Given the description of an element on the screen output the (x, y) to click on. 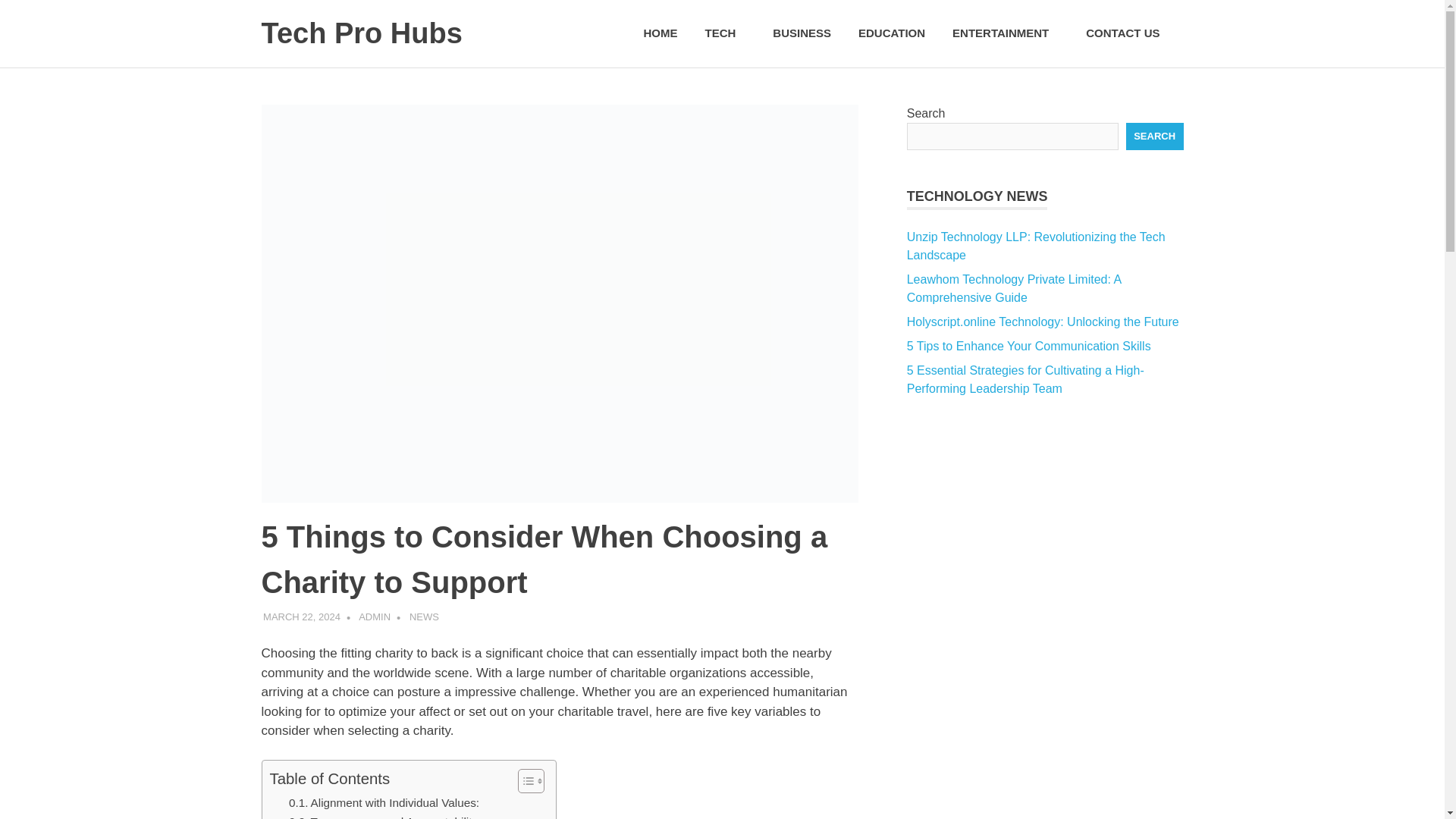
2:32 pm (301, 616)
BUSINESS (801, 33)
CONTACT US (1126, 33)
View all posts by Admin (374, 616)
NEWS (424, 616)
Alignment with Individual Values: (383, 802)
Transparency and Accountability: (384, 816)
SEARCH (1154, 135)
ADMIN (374, 616)
TECH (724, 33)
